Given the description of an element on the screen output the (x, y) to click on. 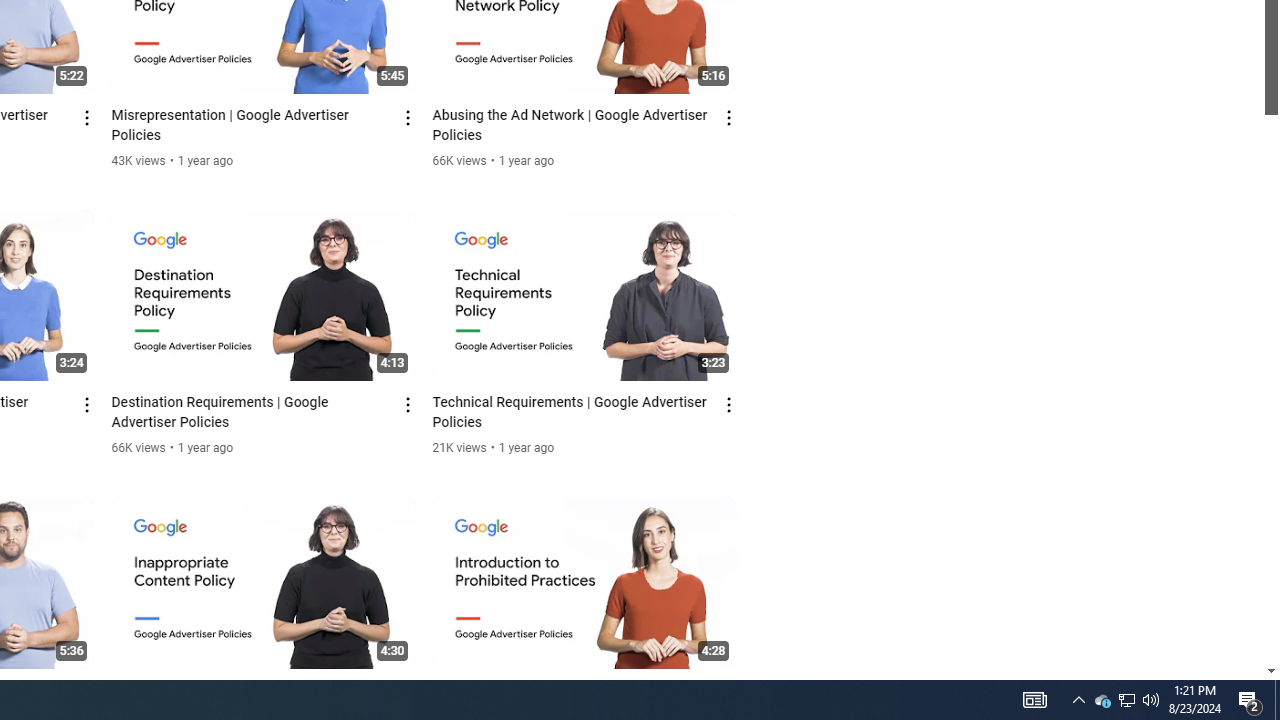
Action menu (729, 691)
